Given the description of an element on the screen output the (x, y) to click on. 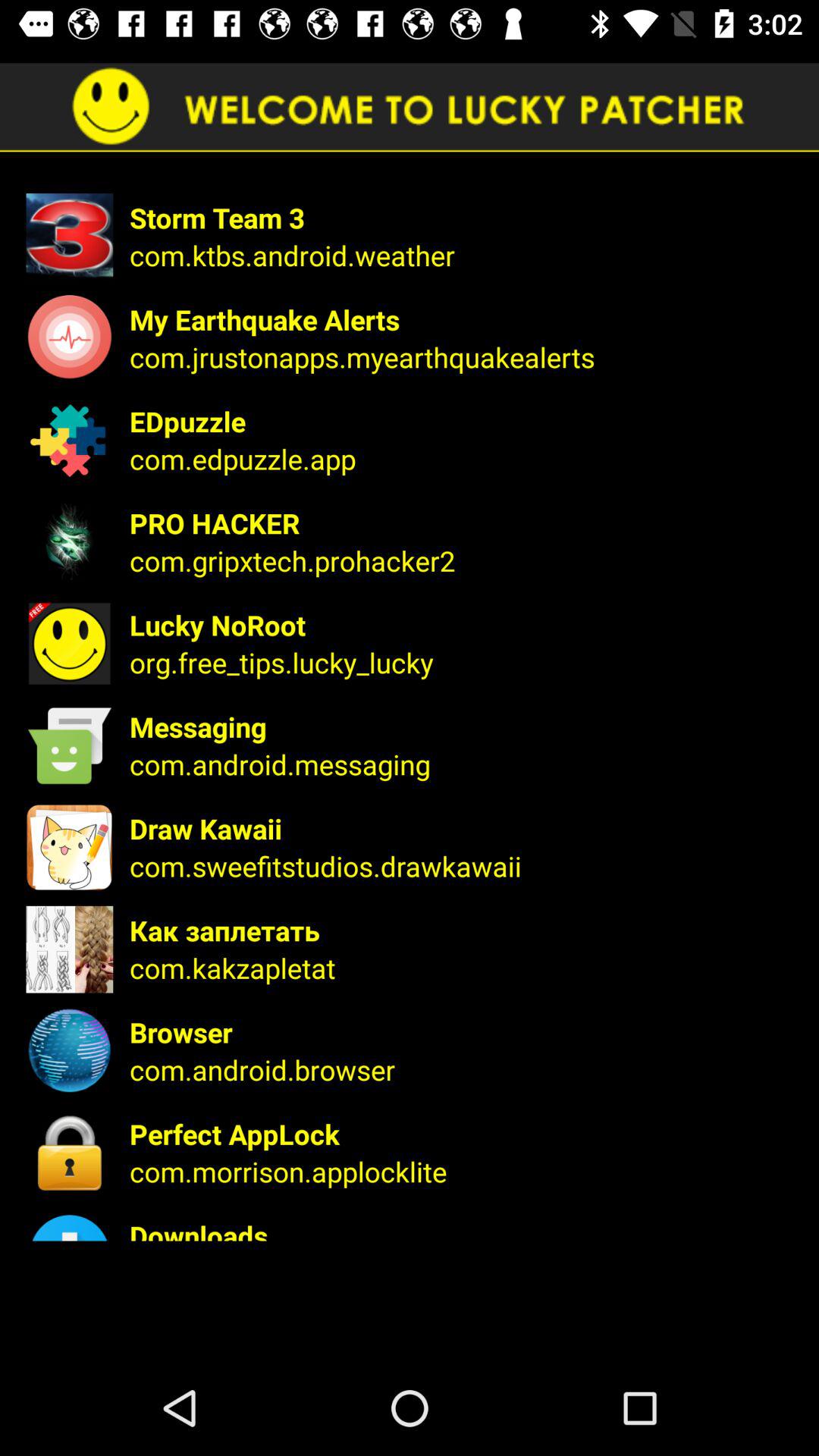
open item below com.android.browser app (464, 1133)
